Given the description of an element on the screen output the (x, y) to click on. 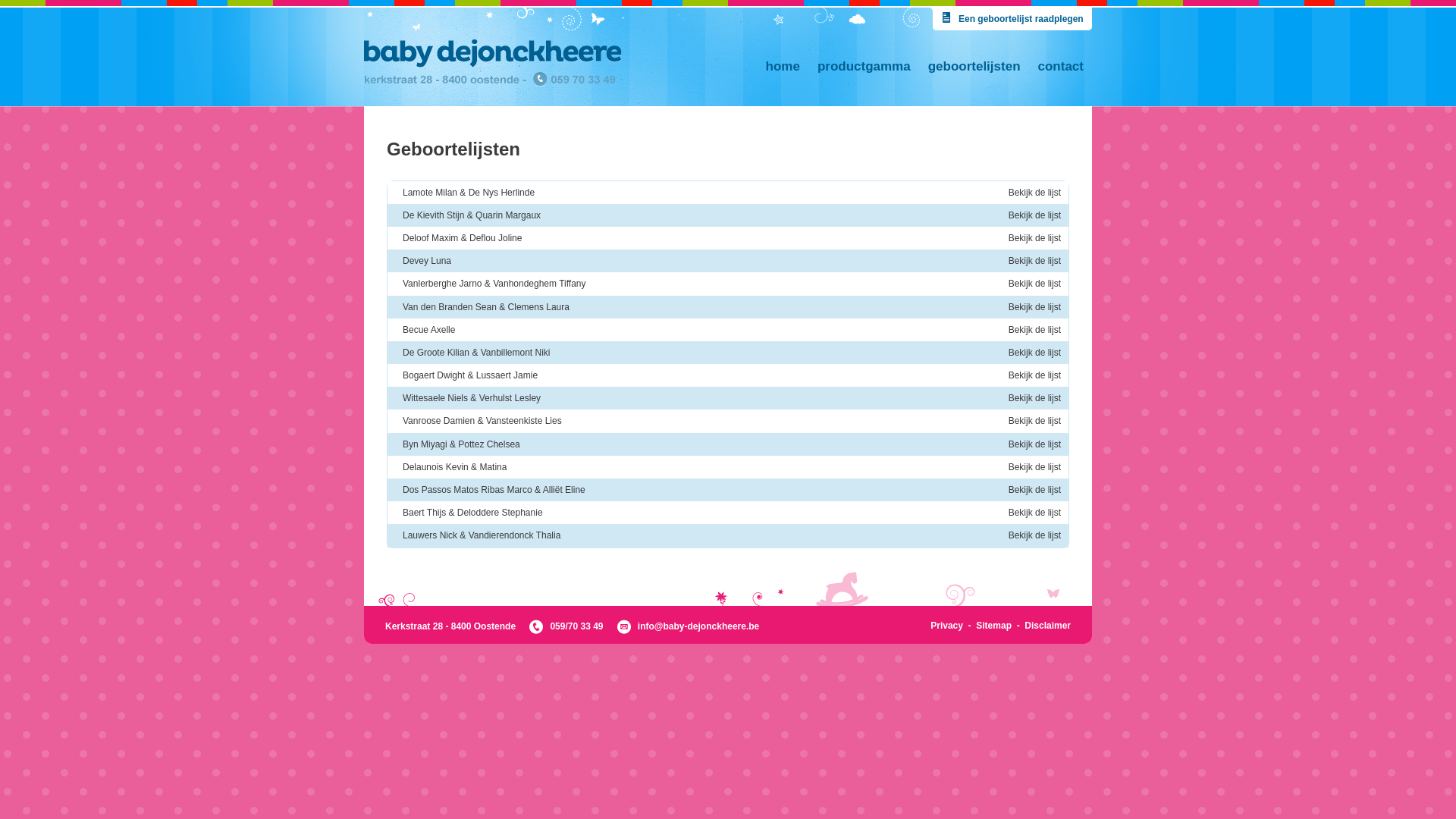
Bekijk de lijst Element type: text (1030, 512)
geboortelijsten Element type: text (974, 66)
Bekijk de lijst Element type: text (1030, 375)
Bekijk de lijst Element type: text (1030, 444)
Bekijk de lijst Element type: text (1030, 398)
Bekijk de lijst Element type: text (1030, 261)
contact Element type: text (1060, 66)
Een geboortelijst raadplegen Element type: text (1010, 18)
productgamma Element type: text (864, 66)
Bekijk de lijst Element type: text (1030, 215)
Bekijk de lijst Element type: text (1030, 283)
home Element type: text (782, 66)
Bekijk de lijst Element type: text (1030, 352)
Bekijk de lijst Element type: text (1030, 238)
Privacy  -   Element type: text (952, 625)
Sitemap  -   Element type: text (999, 625)
Bekijk de lijst Element type: text (1030, 490)
Bekijk de lijst Element type: text (1030, 192)
Bekijk de lijst Element type: text (1030, 535)
Bekijk de lijst Element type: text (1030, 307)
Bekijk de lijst Element type: text (1030, 330)
Disclaimer Element type: text (1047, 625)
Bekijk de lijst Element type: text (1030, 421)
Bekijk de lijst Element type: text (1030, 467)
